Given the description of an element on the screen output the (x, y) to click on. 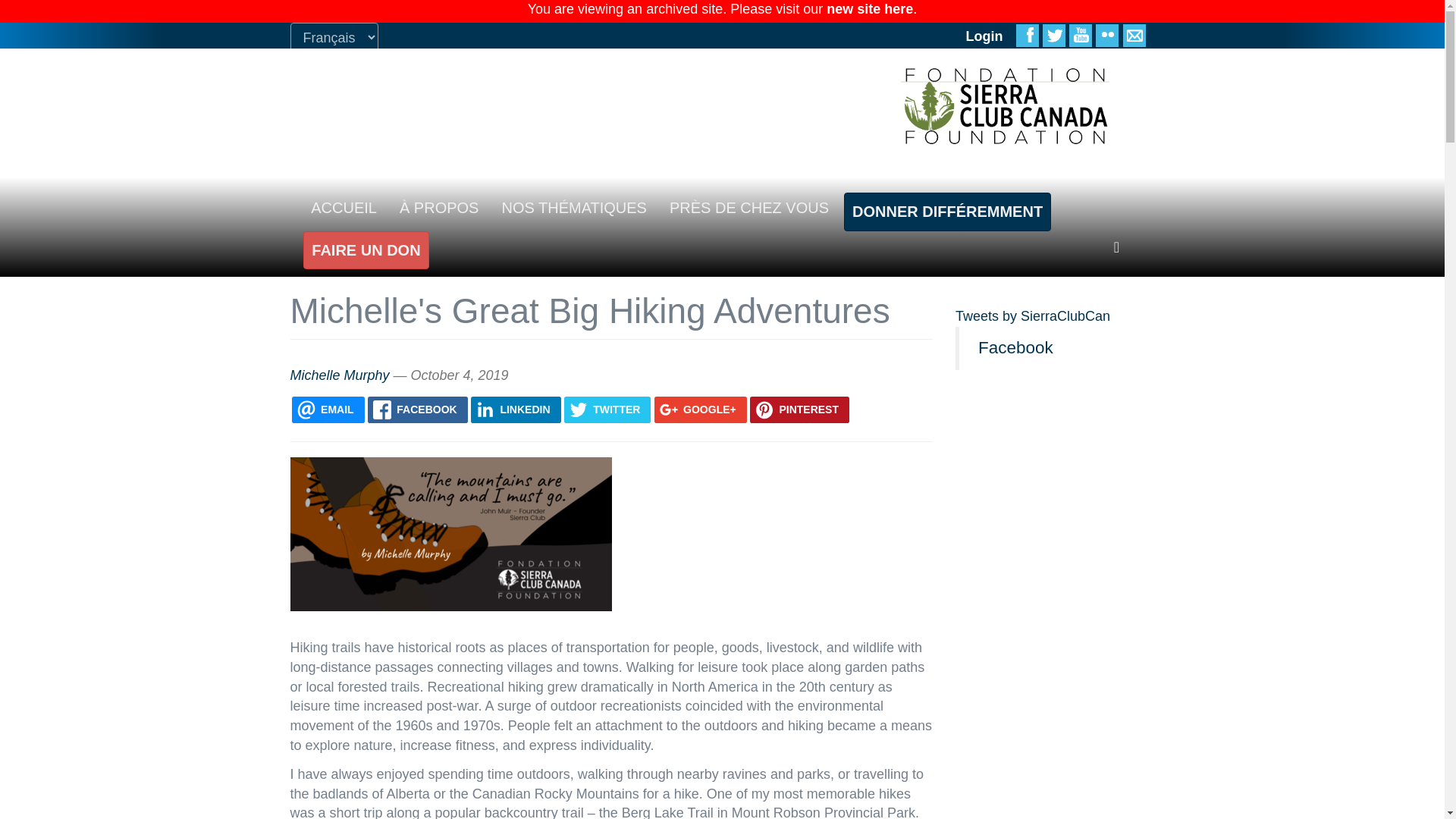
Email (1133, 35)
Youtube (1080, 35)
Twitter (1053, 35)
new site here (869, 8)
Login (984, 34)
Facebook (1027, 35)
Home (1005, 105)
Flickr (1107, 35)
ACCUEIL (343, 207)
